Given the description of an element on the screen output the (x, y) to click on. 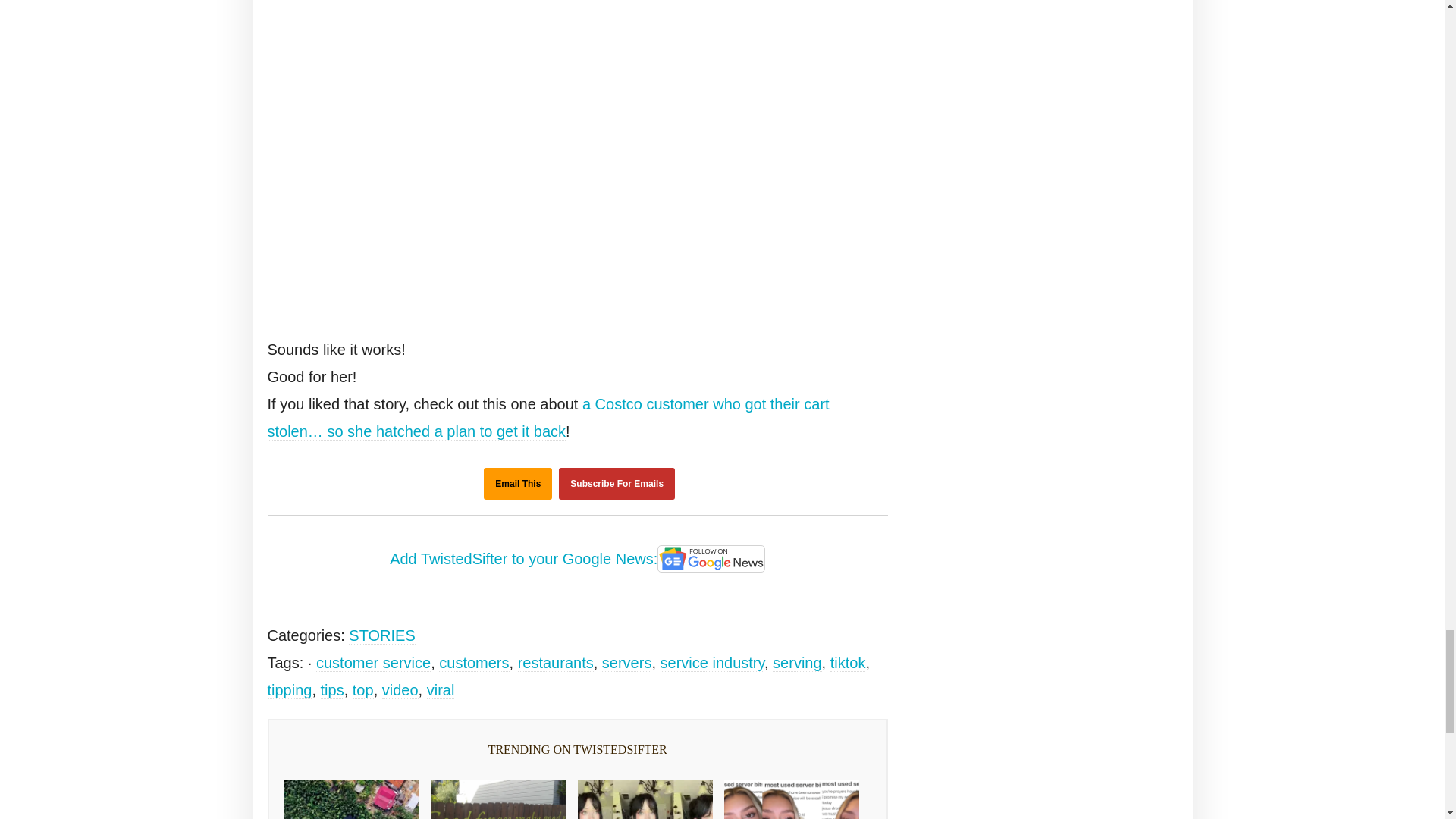
Google News (711, 558)
Subscribe For Emails (617, 483)
Email This (517, 483)
